Given the description of an element on the screen output the (x, y) to click on. 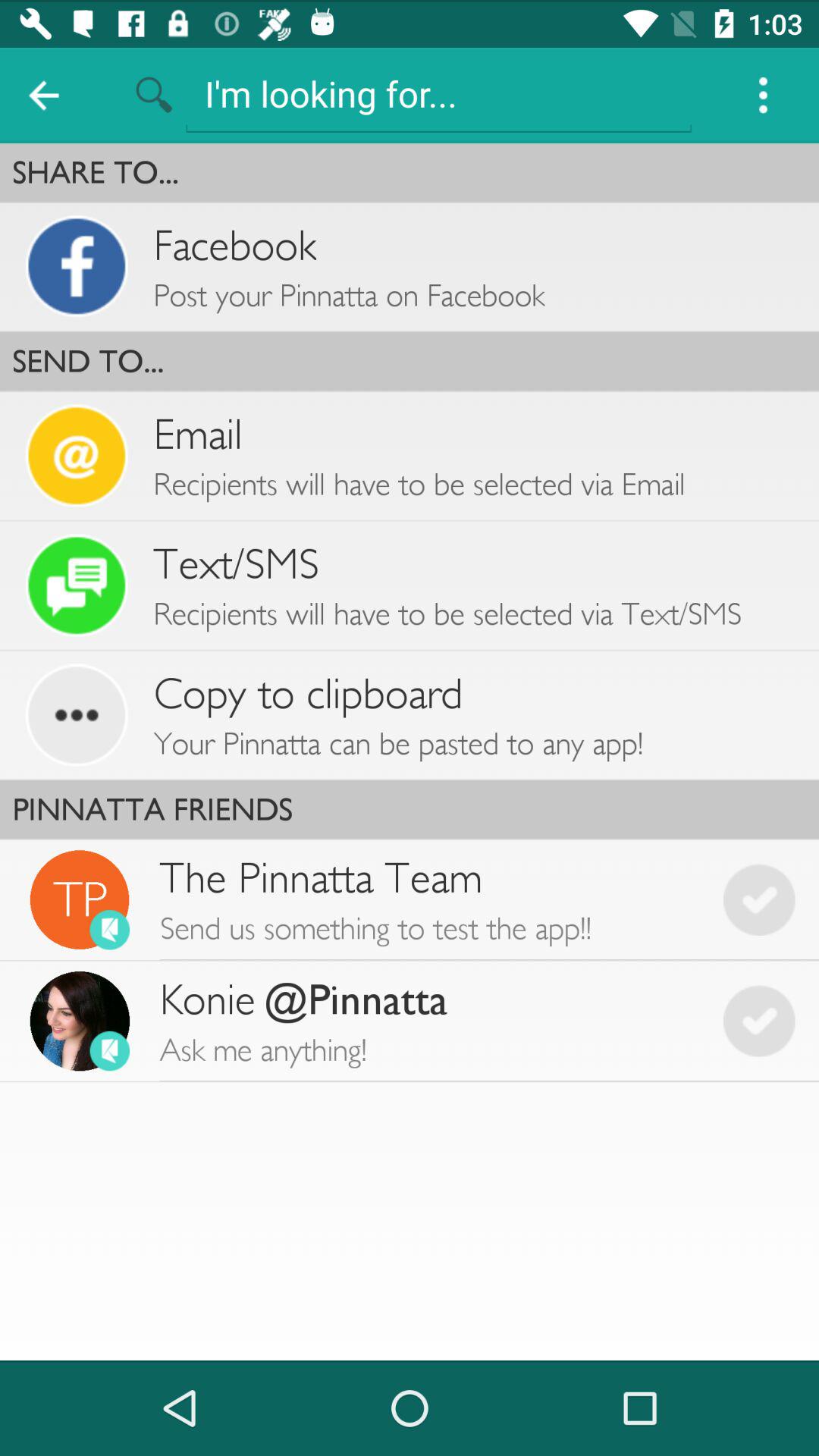
scroll until copy to clipboard (307, 693)
